Given the description of an element on the screen output the (x, y) to click on. 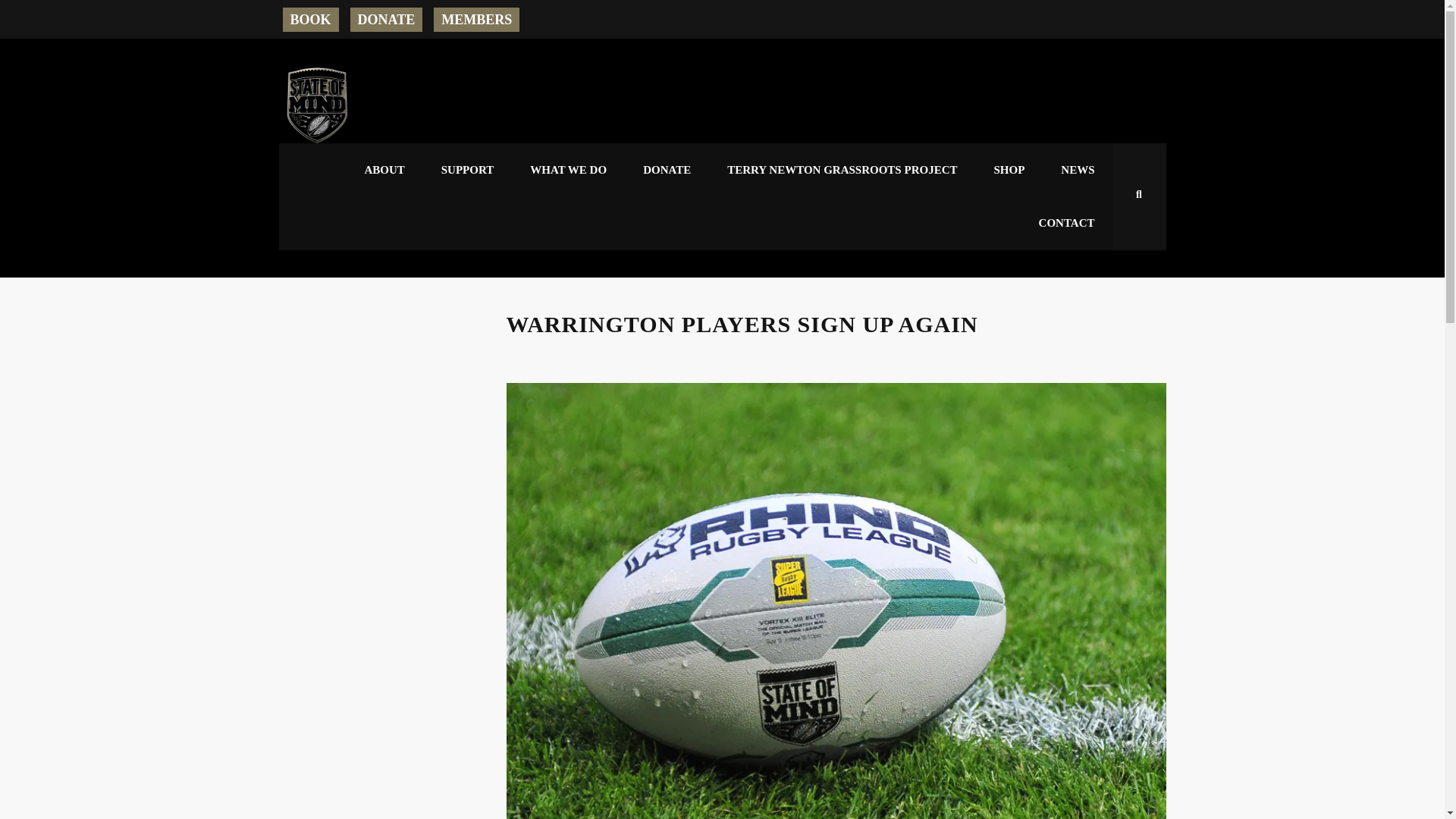
Home (317, 105)
ABOUT (384, 169)
BOOK (309, 19)
SUPPORT (467, 169)
DONATE (666, 169)
WHAT WE DO (568, 169)
Sign up (682, 661)
CONTACT (1066, 222)
DONATE (386, 19)
TERRY NEWTON GRASSROOTS PROJECT (842, 169)
MEMBERS (476, 19)
SHOP (1008, 169)
NEWS (1077, 169)
